Given the description of an element on the screen output the (x, y) to click on. 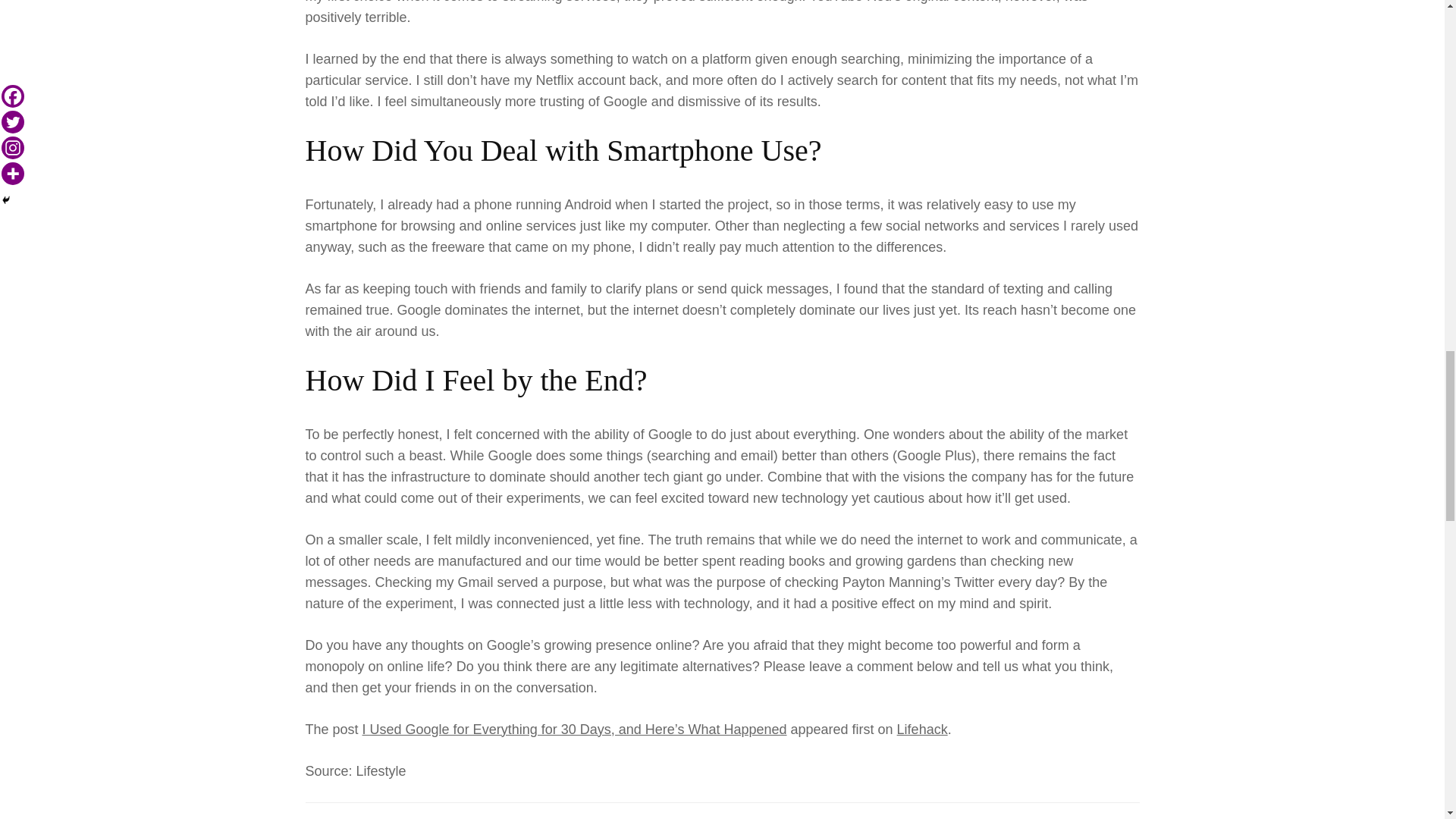
Lifehack (921, 729)
